Given the description of an element on the screen output the (x, y) to click on. 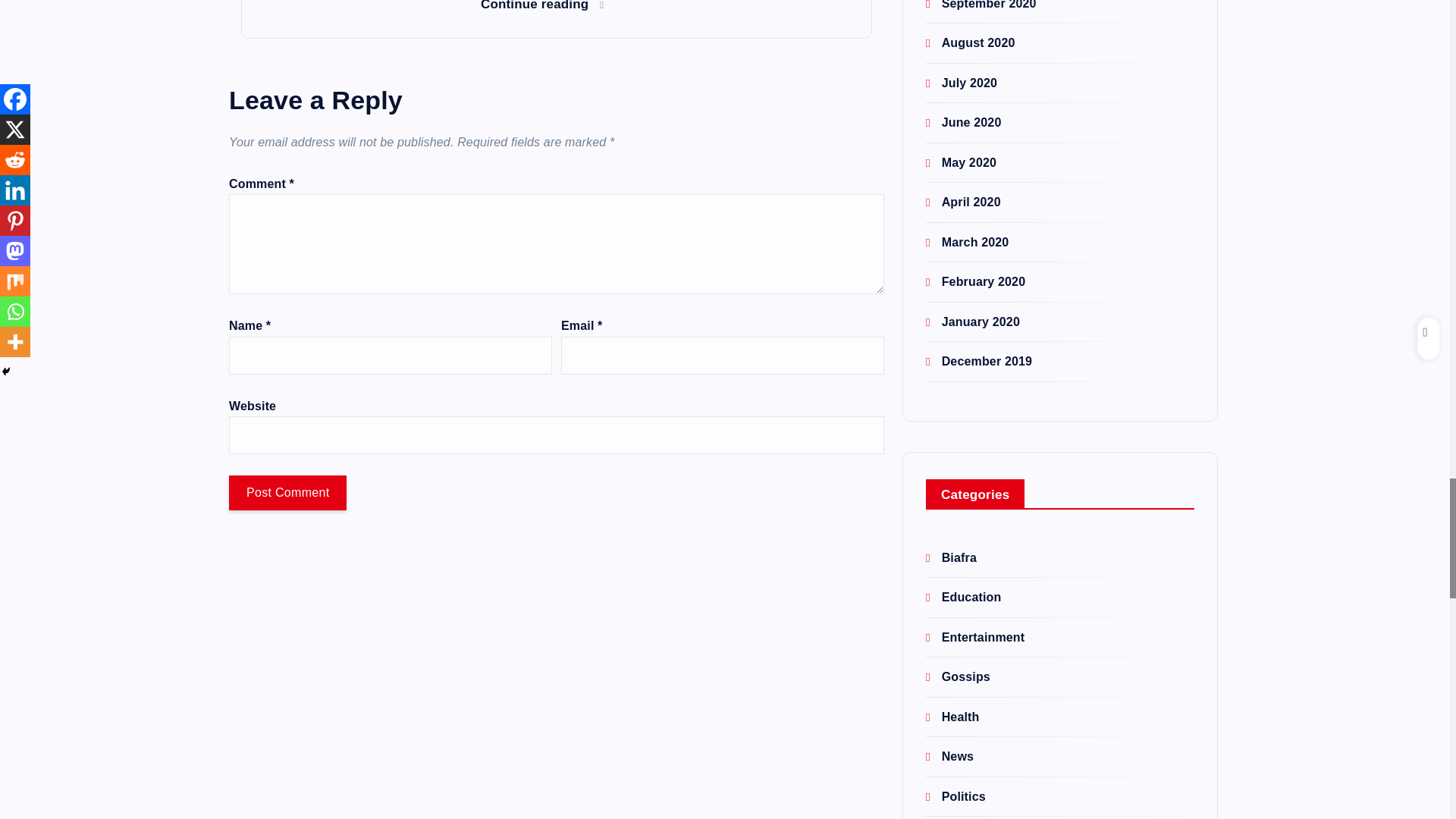
Post Comment (287, 492)
